Given the description of an element on the screen output the (x, y) to click on. 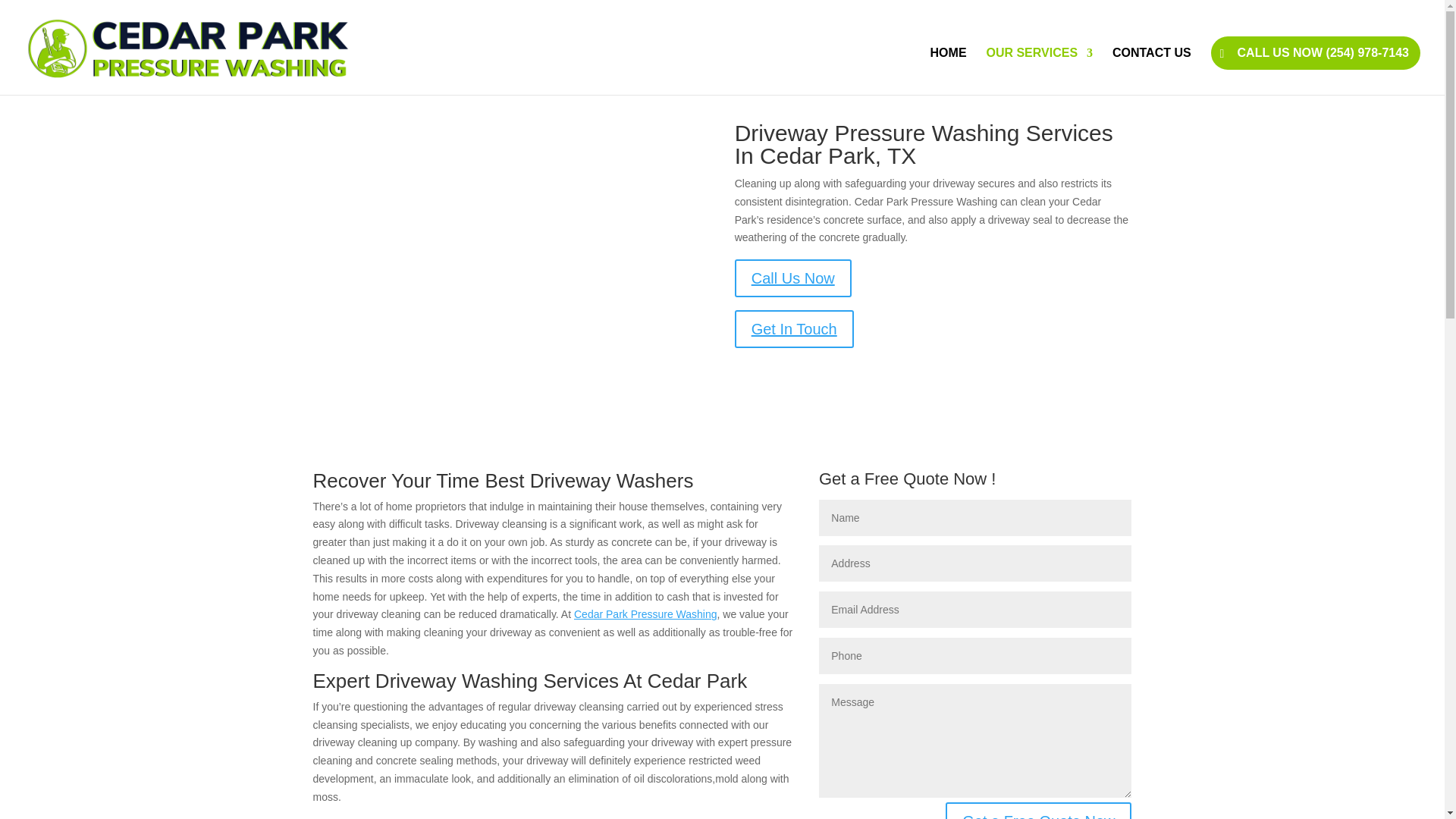
Get In Touch (794, 329)
Call Us Now (793, 278)
OUR SERVICES (1039, 71)
Get a Free Quote Now (1037, 810)
Cedar Park Pressure Washing (645, 613)
CONTACT US (1151, 71)
